Given the description of an element on the screen output the (x, y) to click on. 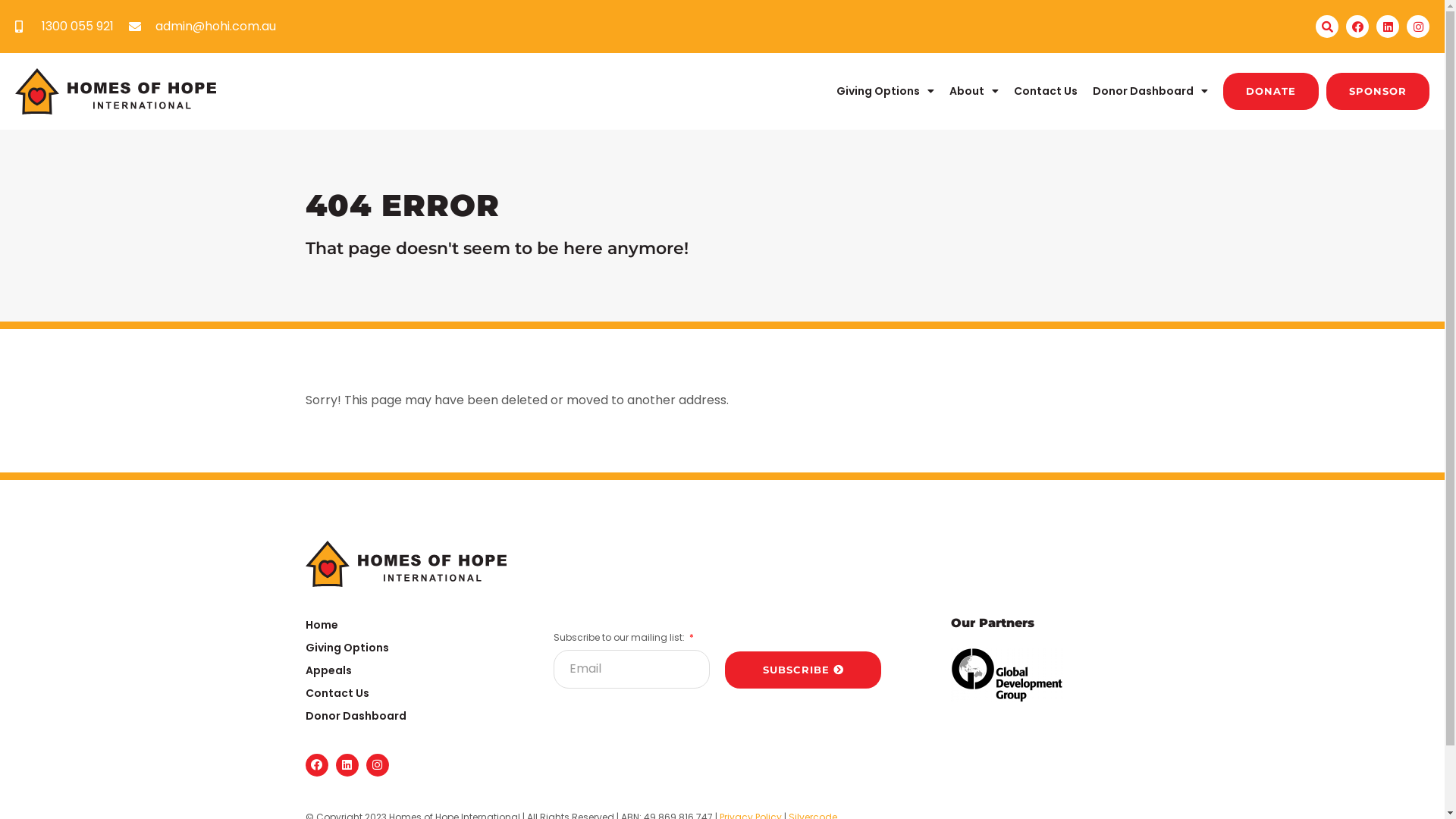
Donor Dashboard Element type: text (1150, 90)
SUBSCRIBE Element type: text (802, 669)
Giving Options Element type: text (885, 90)
SPONSOR Element type: text (1377, 90)
Appeals Element type: text (413, 669)
Donor Dashboard Element type: text (413, 715)
DONATE Element type: text (1270, 90)
Contact Us Element type: text (1045, 90)
Home Element type: text (413, 624)
About Element type: text (973, 90)
Contact Us Element type: text (413, 692)
admin@hohi.com.au Element type: text (202, 26)
Giving Options Element type: text (413, 647)
1300 055 921 Element type: text (64, 26)
